Given the description of an element on the screen output the (x, y) to click on. 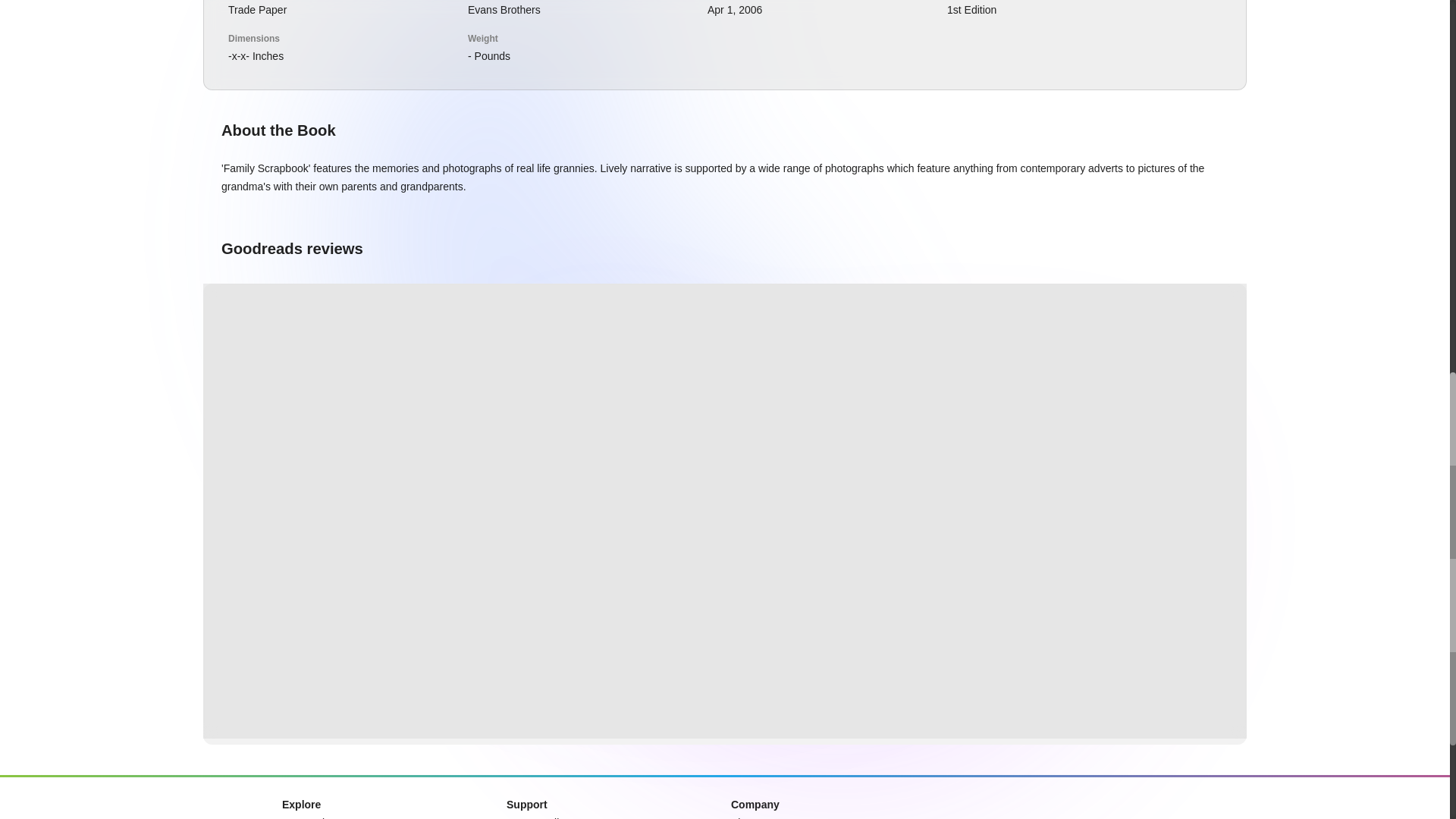
About Us (752, 817)
Buy Books (307, 817)
Return Policy (537, 817)
